Given the description of an element on the screen output the (x, y) to click on. 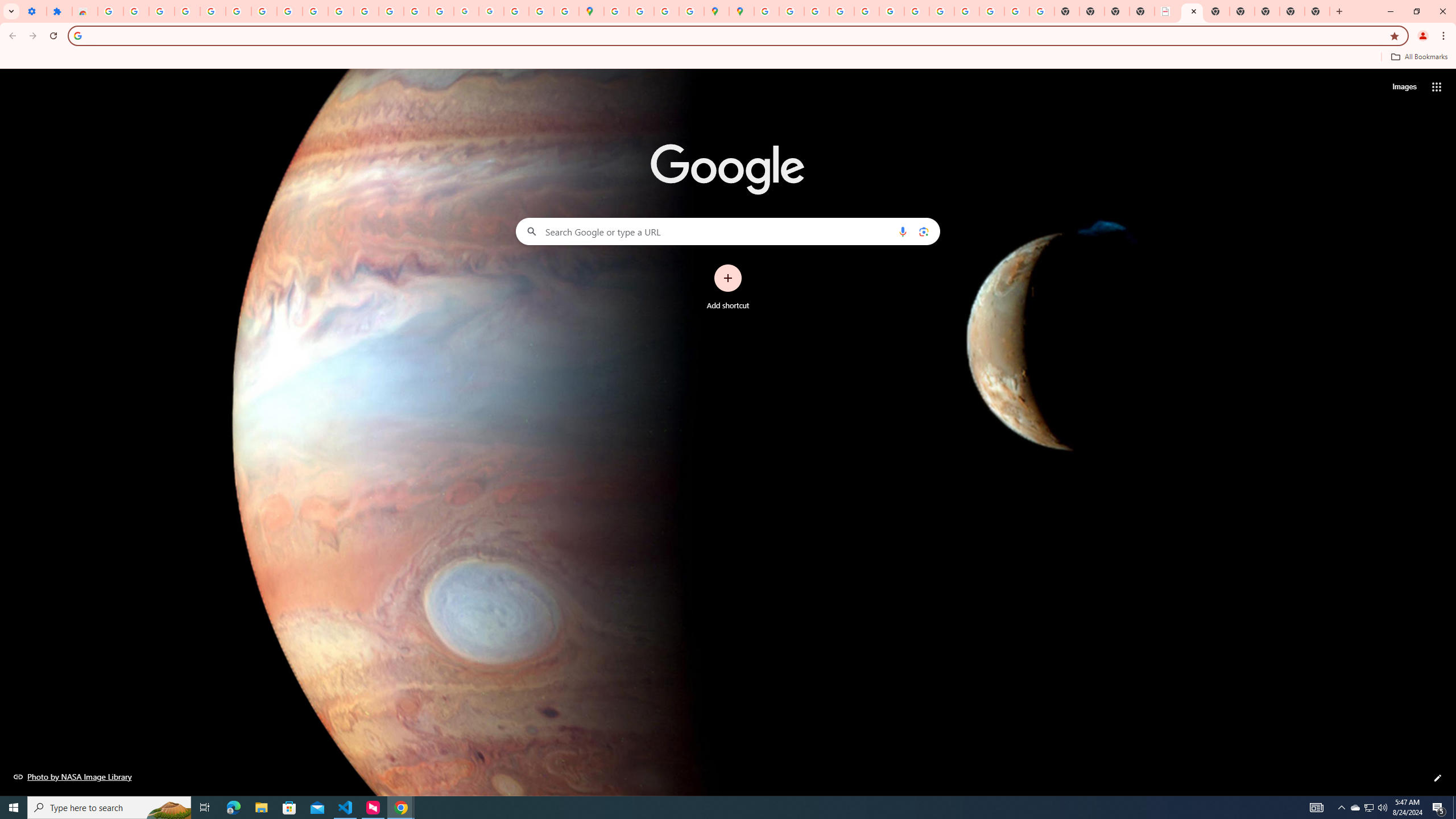
YouTube (315, 11)
Add shortcut (727, 287)
Privacy Help Center - Policies Help (816, 11)
